Given the description of an element on the screen output the (x, y) to click on. 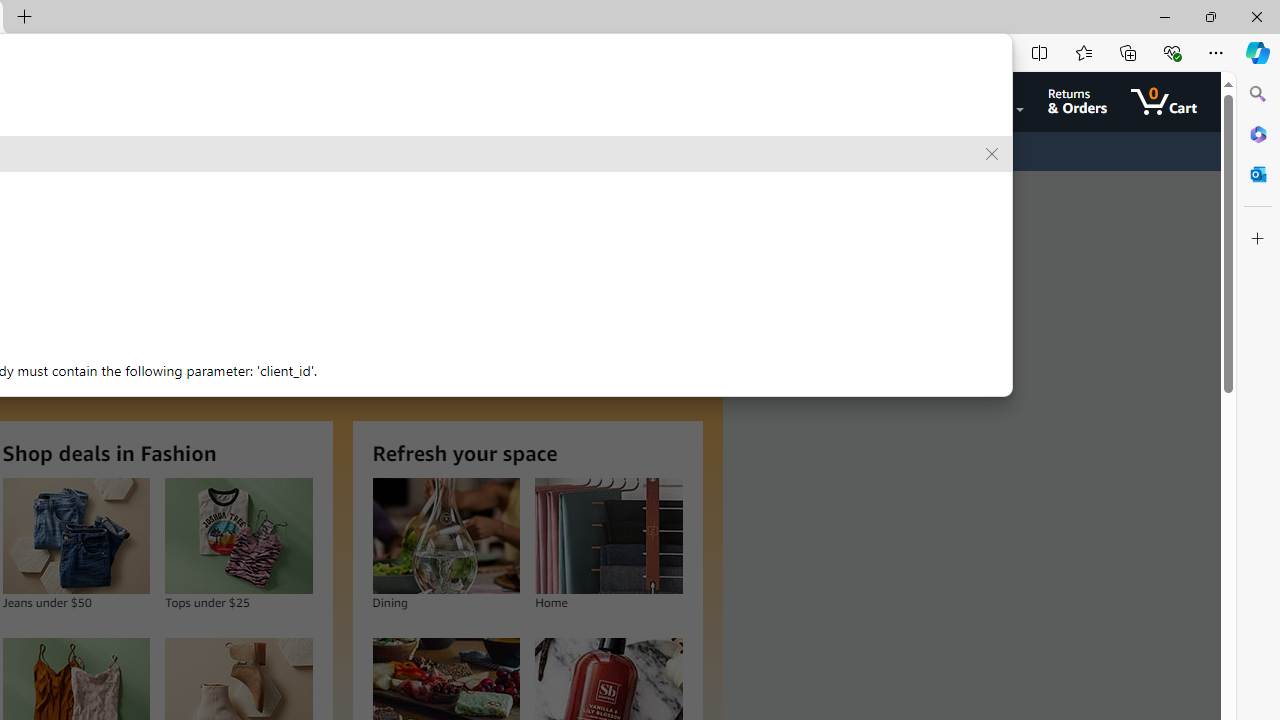
Restore (1210, 16)
Home (608, 536)
Choose a language for shopping. (858, 101)
Hello, sign in Account & Lists (967, 101)
Go (776, 101)
New Tab (24, 17)
Copilot (Ctrl+Shift+.) (1258, 52)
Returns & Orders (1077, 101)
Favorites (1083, 52)
Jeans under $50 (75, 536)
Browser essentials (1171, 52)
Dining (445, 536)
Close (1256, 16)
Tops under $25 (238, 536)
Search (1258, 94)
